Given the description of an element on the screen output the (x, y) to click on. 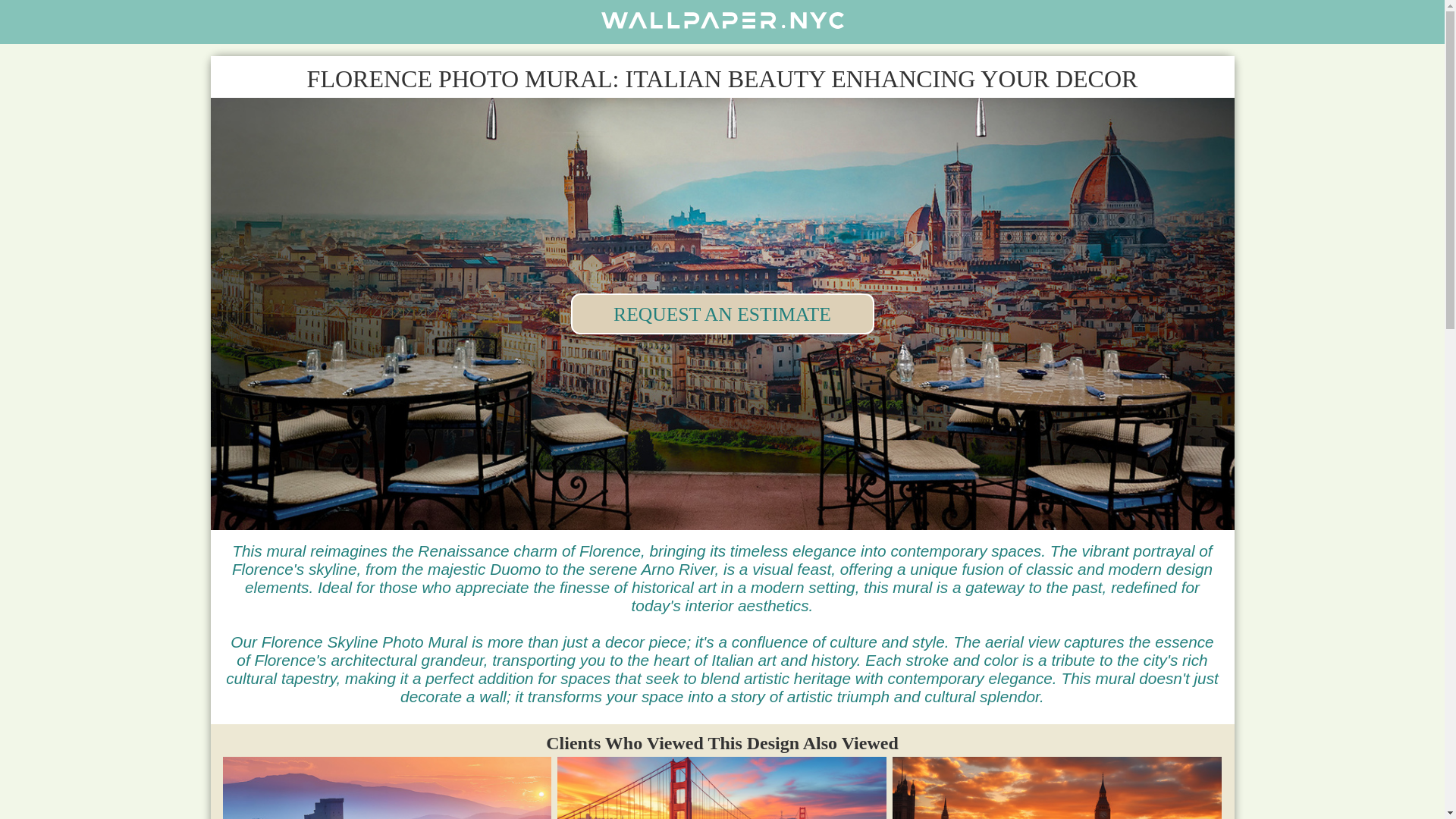
REQUEST AN ESTIMATE (721, 313)
